Given the description of an element on the screen output the (x, y) to click on. 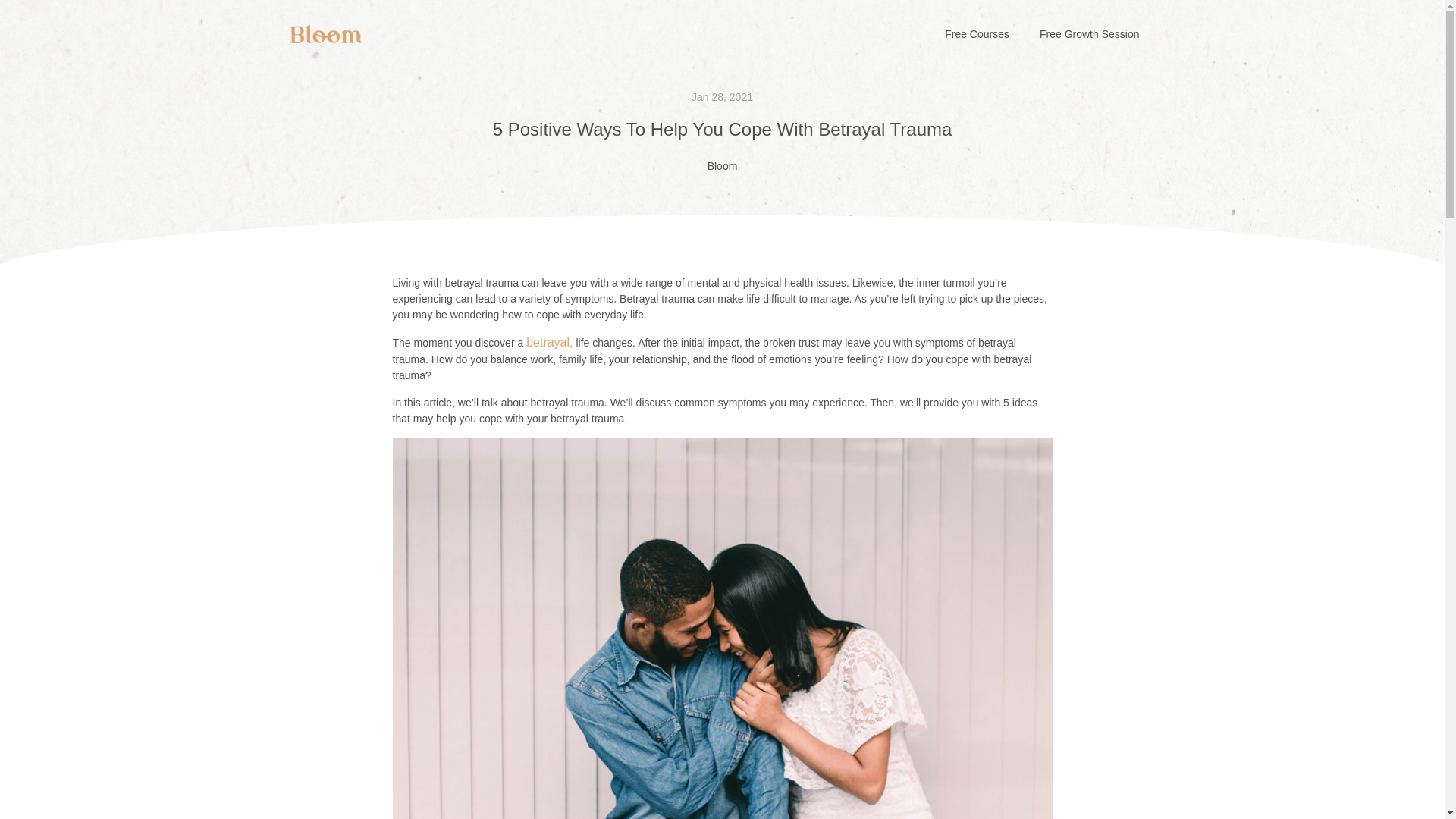
betrayal, (548, 341)
Free Courses (977, 33)
Free Growth Session (1089, 33)
